Given the description of an element on the screen output the (x, y) to click on. 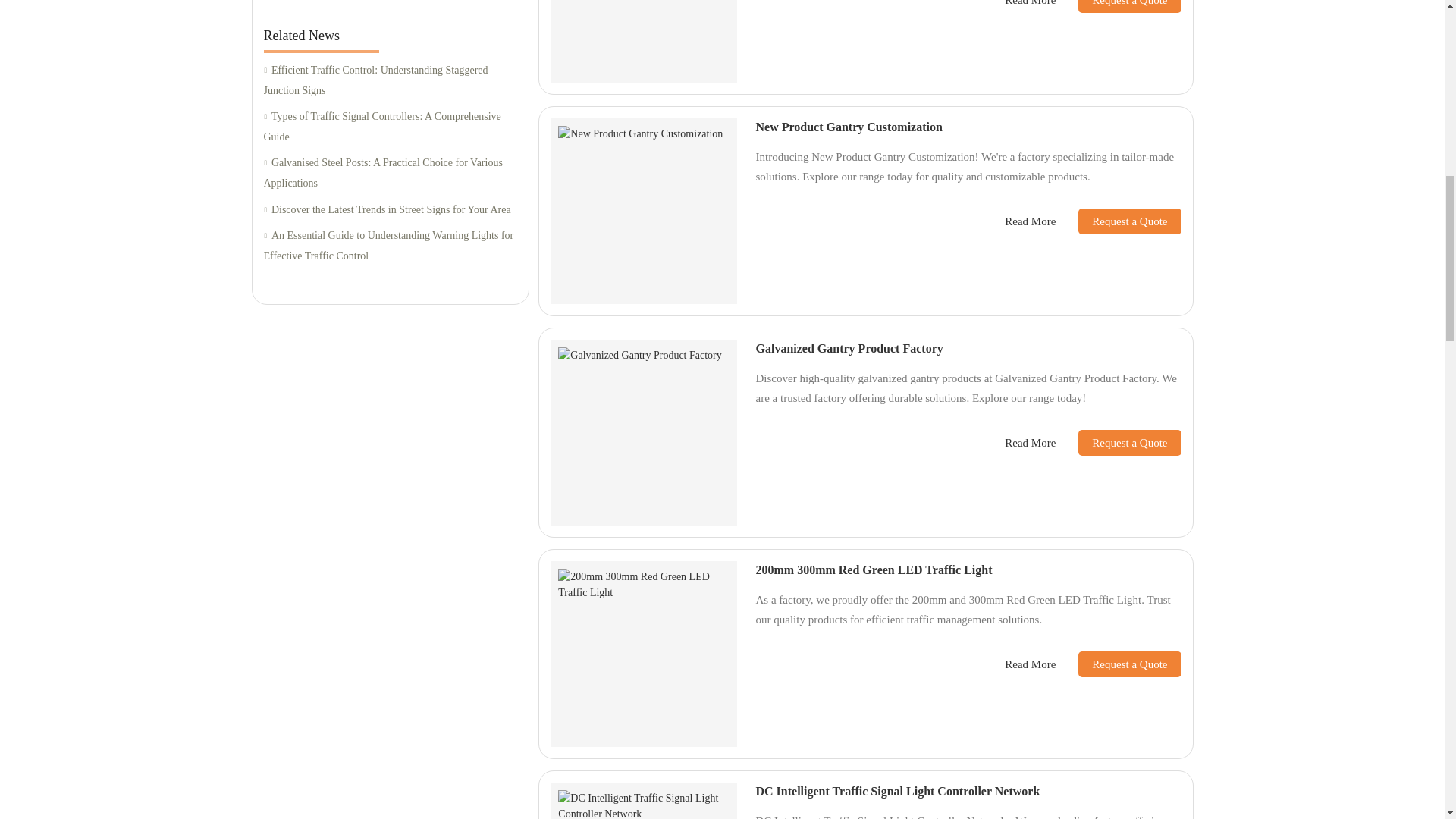
Types of Traffic Signal Controllers: A Comprehensive Guide (389, 127)
Request a Quote (1117, 6)
Top Traffic Sign Pole Suppliers in the Market (389, 2)
Read More (1029, 4)
Discover the Latest Trends in Street Signs for Your Area (389, 209)
